Given the description of an element on the screen output the (x, y) to click on. 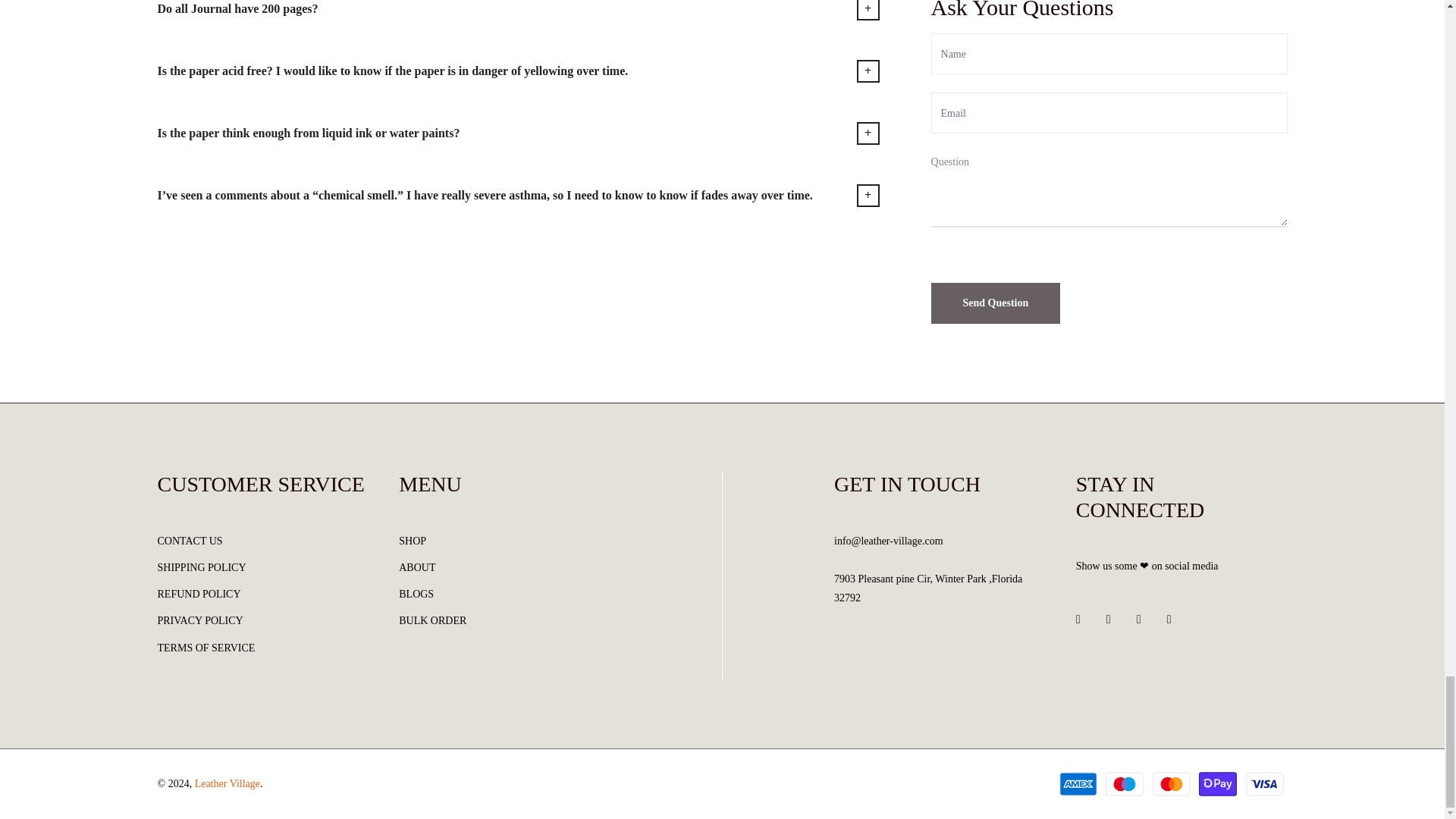
Send question (996, 302)
